Given the description of an element on the screen output the (x, y) to click on. 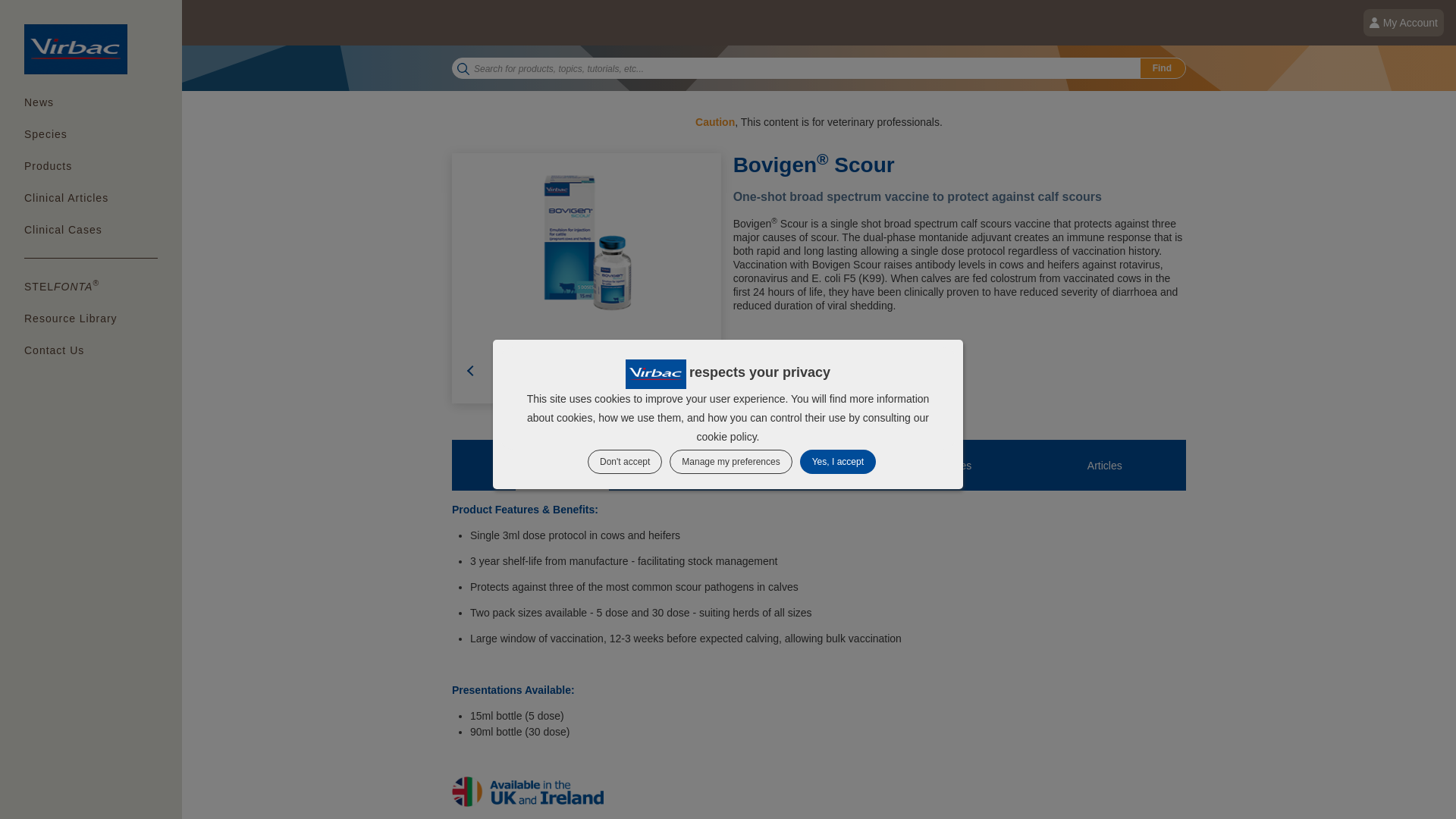
Cookies Policy (725, 436)
Products (90, 165)
Manage my preferences (730, 461)
Don't accept (625, 461)
Yes, I accept (837, 461)
My Account (1403, 22)
News (90, 101)
Species (90, 133)
